Given the description of an element on the screen output the (x, y) to click on. 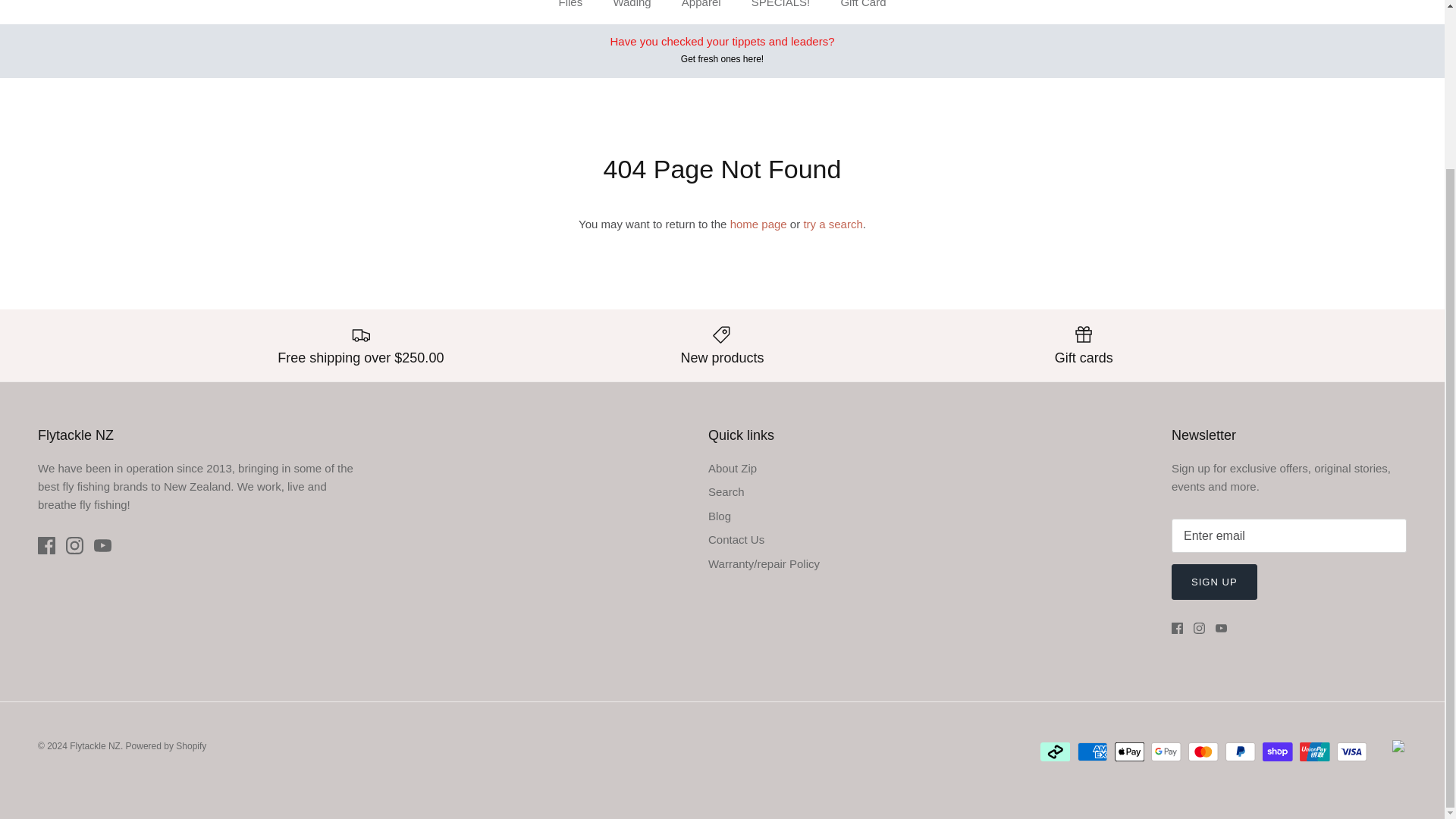
Instagram (1199, 627)
Facebook (1177, 627)
Apple Pay (1129, 751)
Google Pay (1165, 751)
Mastercard (1203, 751)
Afterpay (1055, 751)
American Express (1092, 751)
PayPal (1240, 751)
Instagram (73, 545)
Youtube (1221, 627)
